Given the description of an element on the screen output the (x, y) to click on. 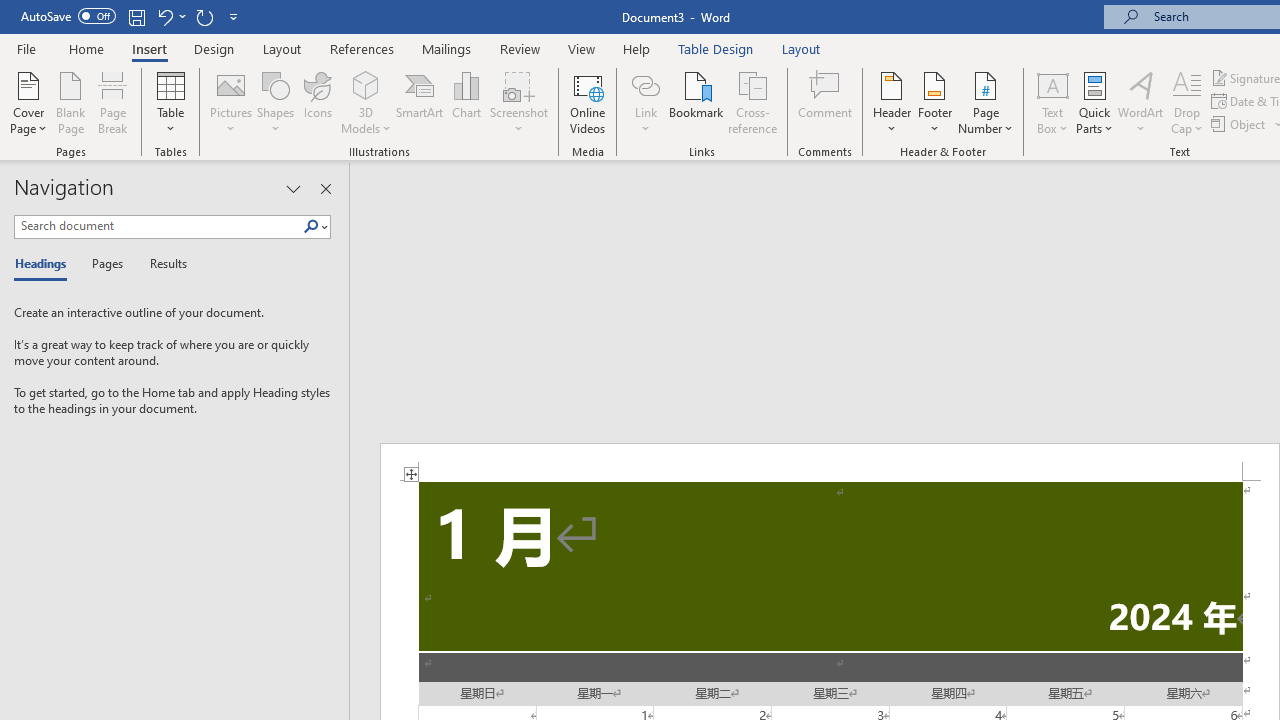
AutoSave (68, 16)
Results (161, 264)
Save (136, 15)
Text Box (1052, 102)
Task Pane Options (293, 188)
Quick Parts (1094, 102)
Online Videos... (588, 102)
Review (520, 48)
Home (86, 48)
Bookmark... (695, 102)
SmartArt... (419, 102)
Quick Access Toolbar (131, 16)
Customize Quick Access Toolbar (234, 15)
